Given the description of an element on the screen output the (x, y) to click on. 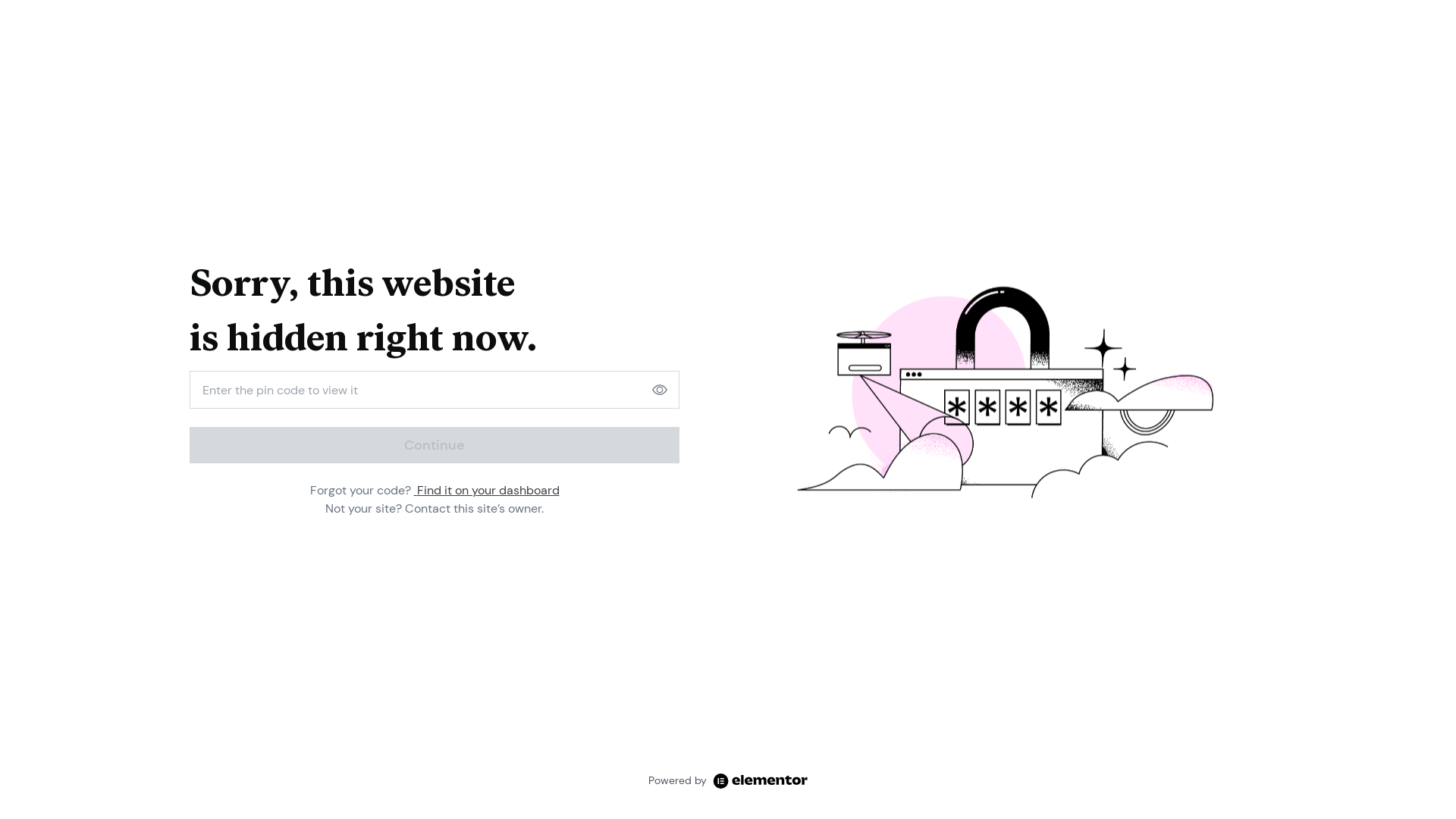
Continue Element type: text (434, 444)
Find it on your dashboard Element type: text (486, 490)
Powered by Element type: text (727, 780)
